Given the description of an element on the screen output the (x, y) to click on. 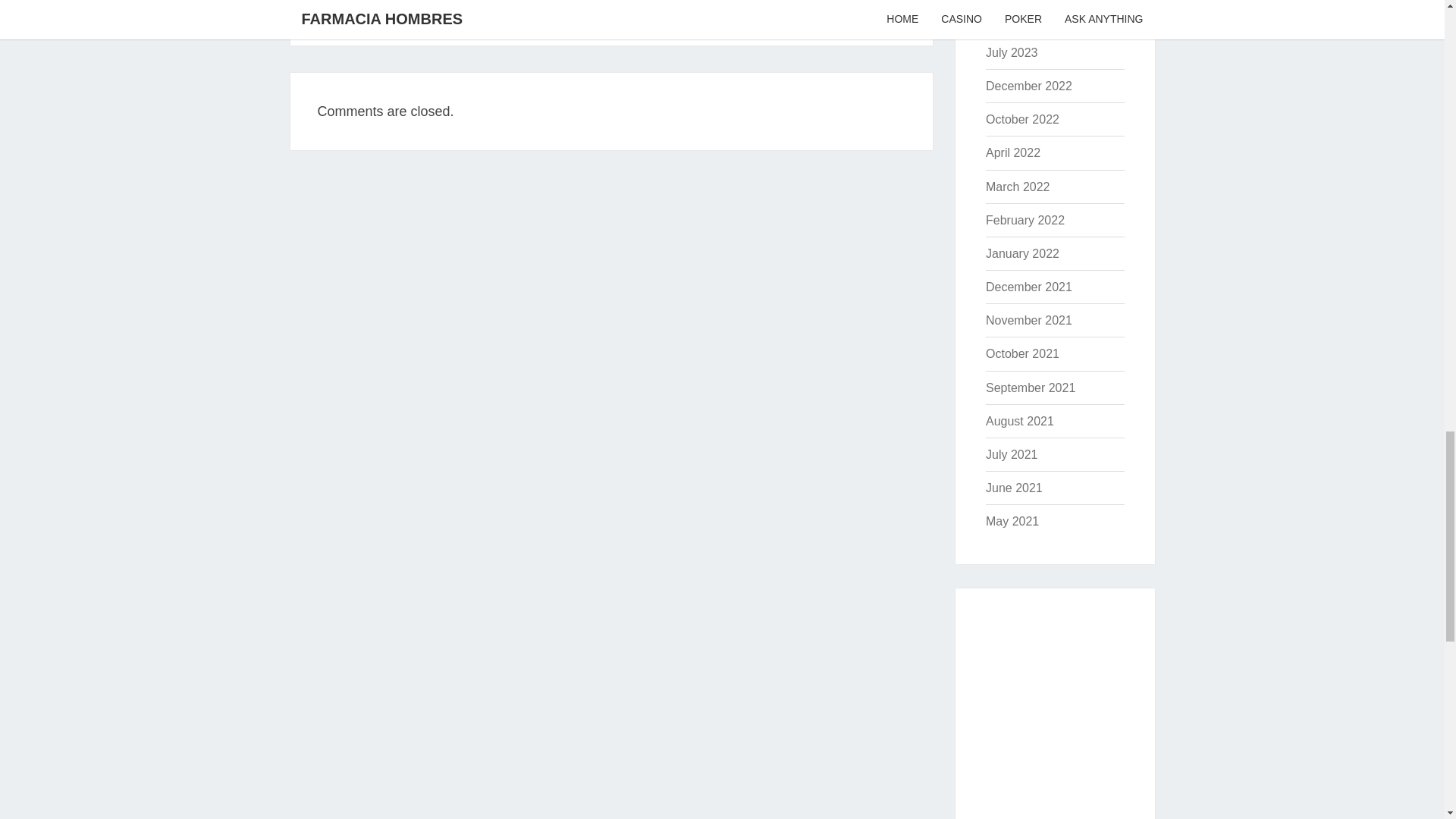
February 2022 (1024, 219)
August 2021 (1019, 420)
April 2022 (1013, 152)
September 2021 (1030, 387)
July 2023 (1011, 51)
June 2021 (1013, 487)
July 2021 (1011, 454)
December 2022 (1028, 85)
October 2022 (1022, 119)
November 2021 (1028, 319)
December 2021 (1028, 286)
August 2023 (1019, 19)
January 2022 (1022, 253)
October 2021 (1022, 353)
